Given the description of an element on the screen output the (x, y) to click on. 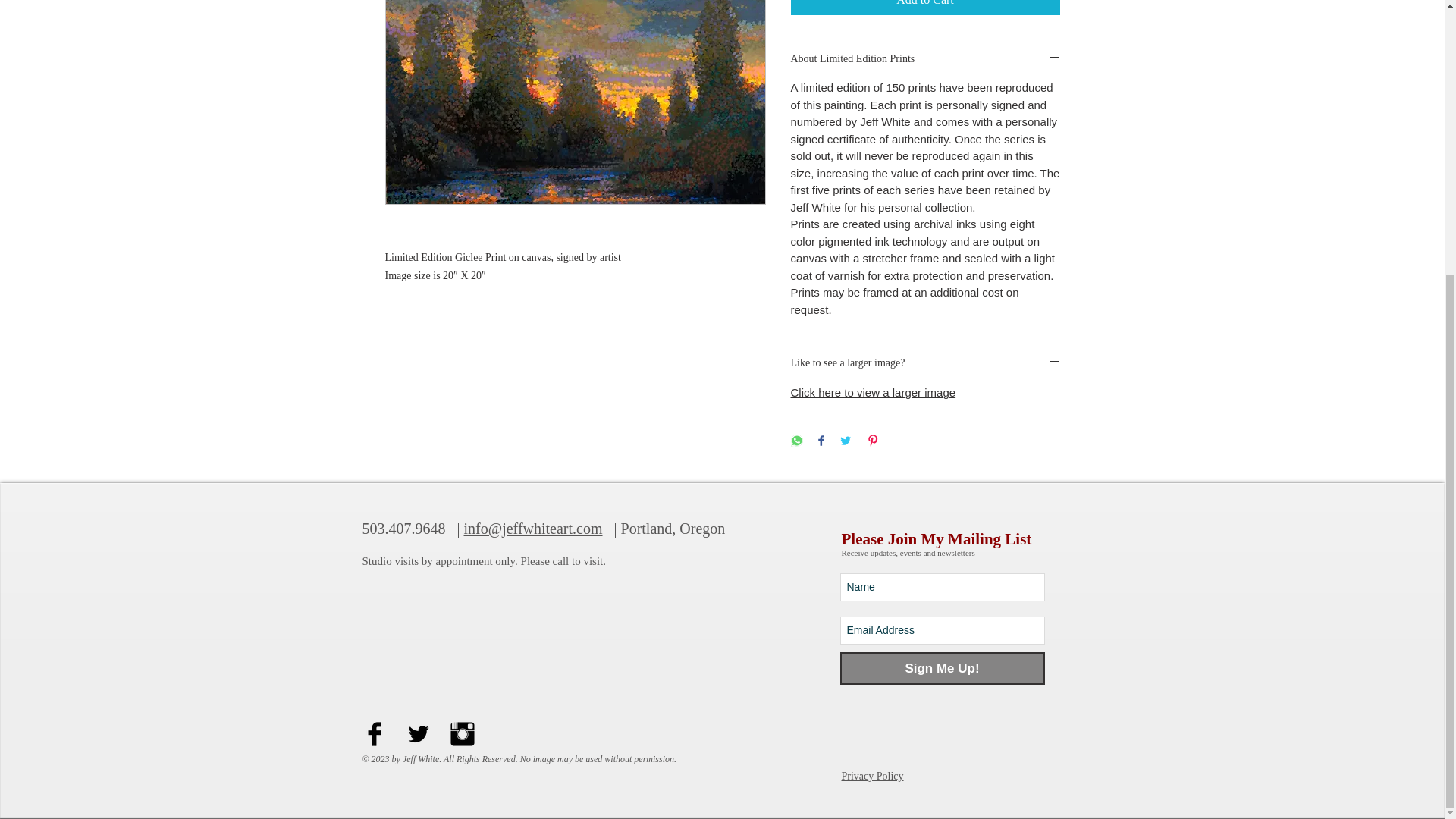
Sign Me Up! (942, 667)
Click here to view a larger image (872, 391)
About Limited Edition Prints (924, 59)
Add to Cart (924, 7)
Like to see a larger image? (924, 363)
Privacy Policy (872, 776)
